Given the description of an element on the screen output the (x, y) to click on. 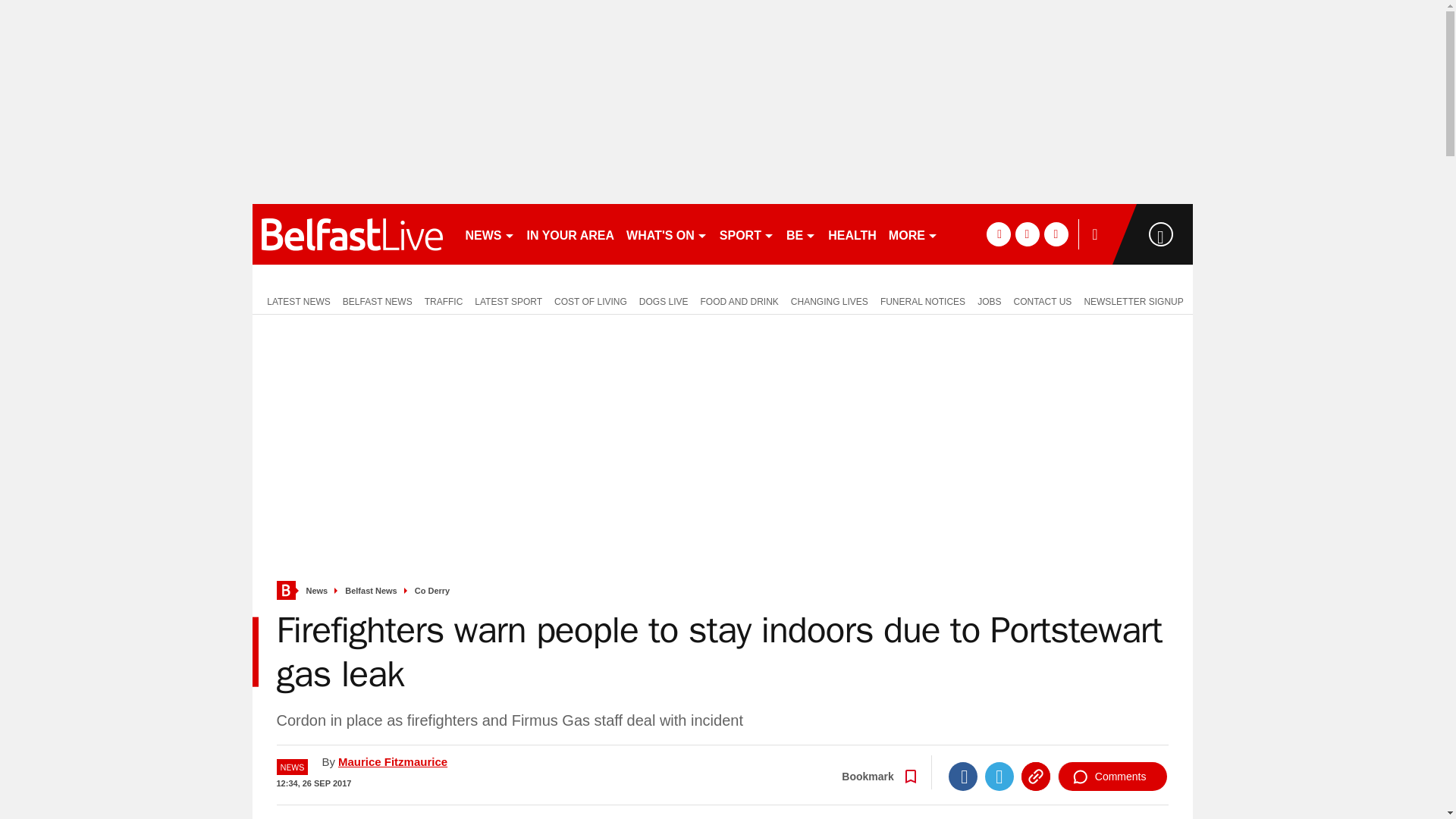
facebook (997, 233)
Twitter (999, 776)
Comments (1112, 776)
twitter (1026, 233)
SPORT (746, 233)
IN YOUR AREA (569, 233)
instagram (1055, 233)
Facebook (962, 776)
belfastlive (351, 233)
NEWS (490, 233)
